Given the description of an element on the screen output the (x, y) to click on. 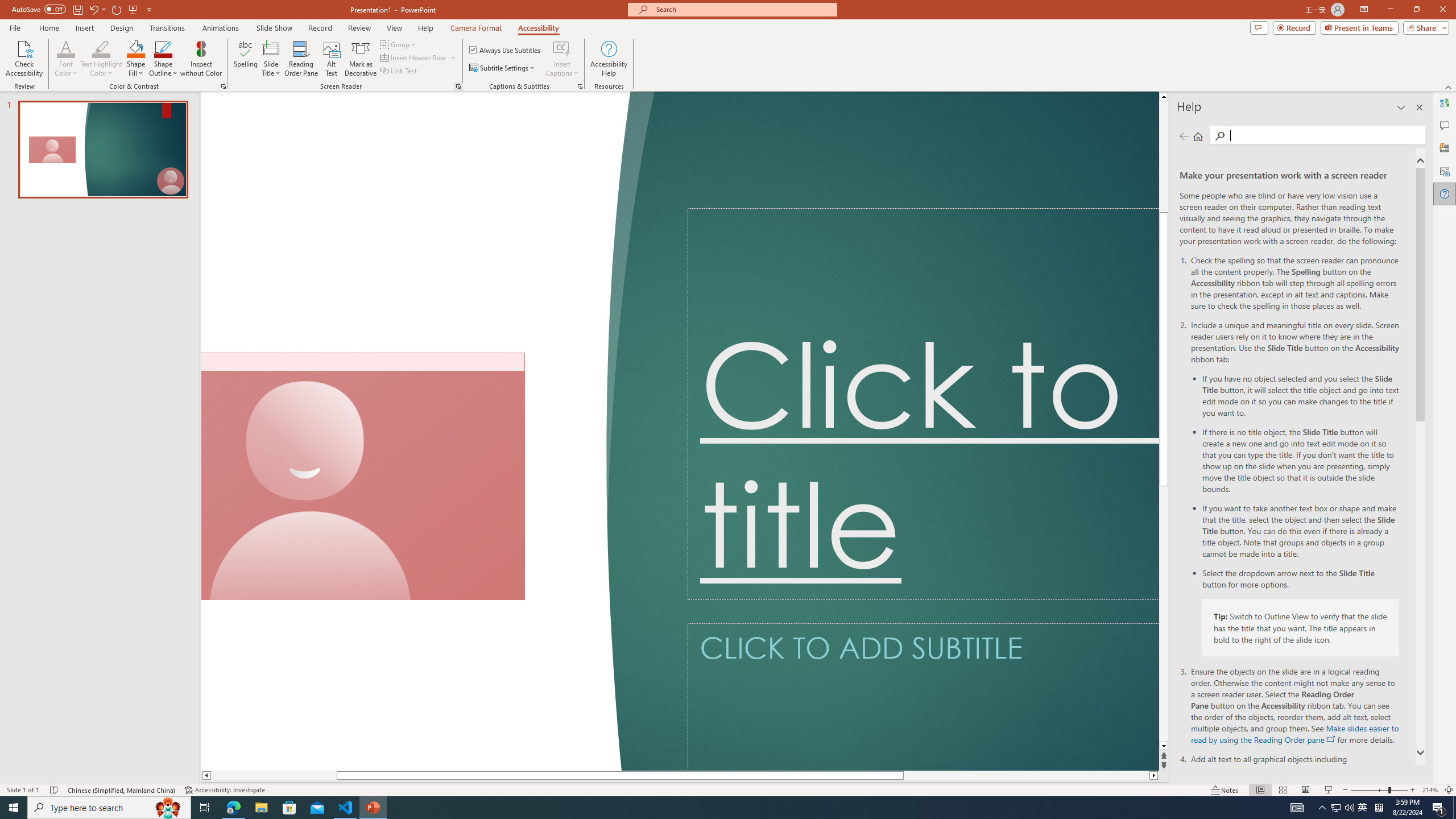
openinnewwindow (1330, 739)
Subtitle Settings (502, 67)
Subtitle TextBox (922, 696)
Insert Header Row (418, 56)
Camera Format (475, 28)
Group (398, 44)
Camera 7, No camera detected. (362, 476)
Insert Captions (561, 58)
Reading Order Pane (301, 58)
